Given the description of an element on the screen output the (x, y) to click on. 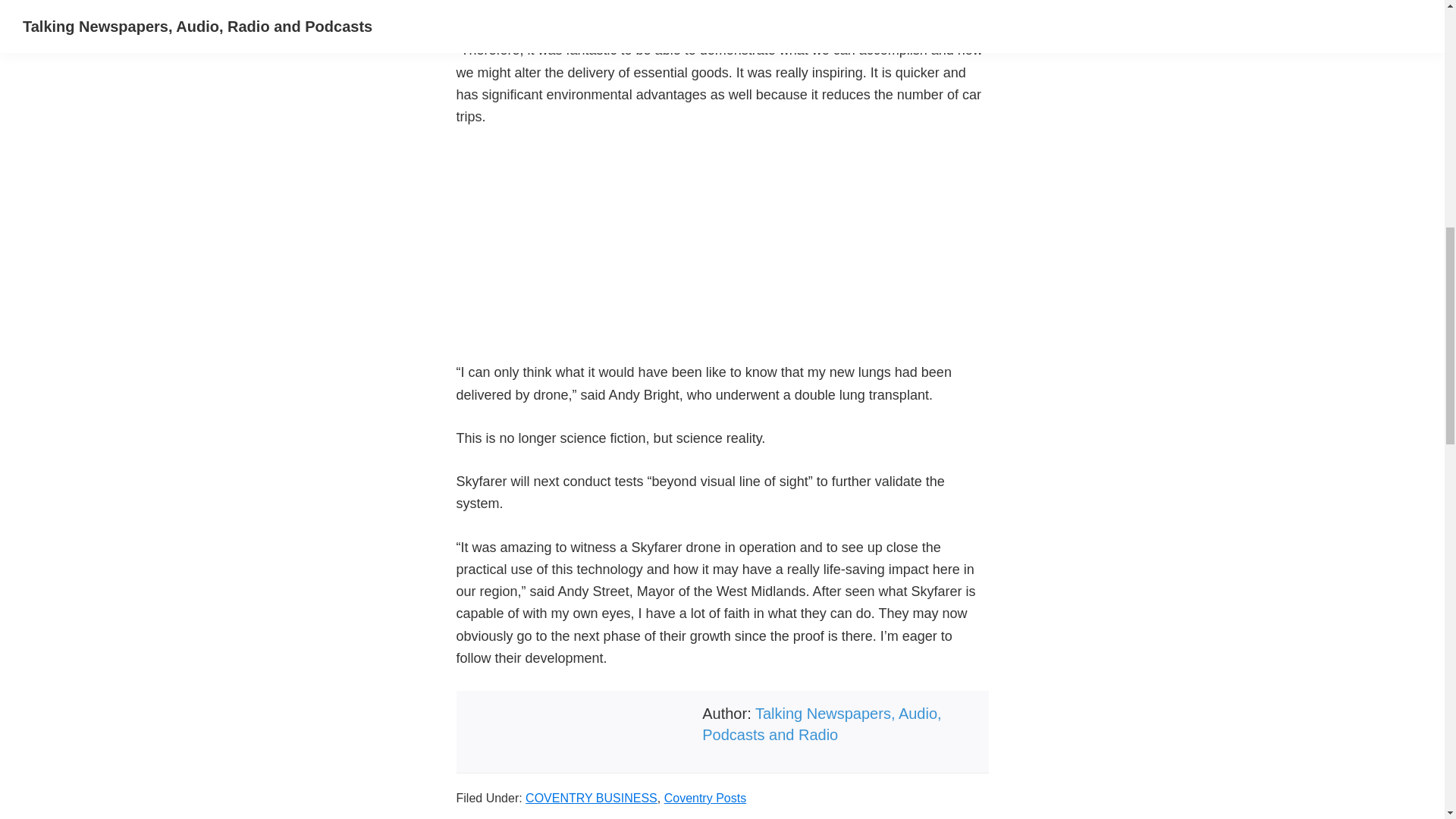
Advertisement (722, 255)
Talking Newspapers, Audio, Podcasts and Radio (820, 723)
Coventry Posts (704, 797)
COVENTRY BUSINESS (591, 797)
